Given the description of an element on the screen output the (x, y) to click on. 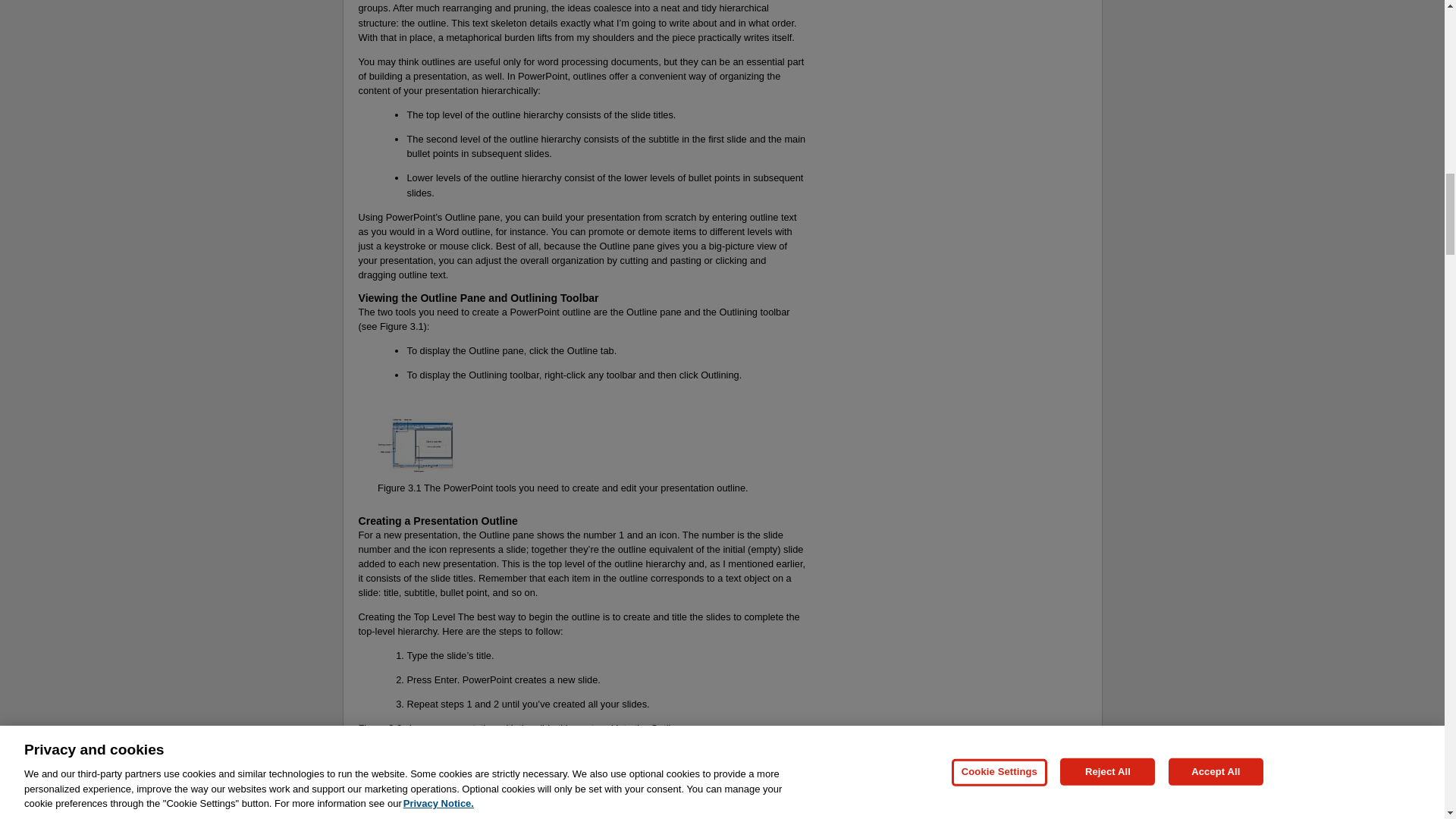
Figure 3.1 (401, 326)
Figure 3.2 (379, 727)
Figure 3.1 (399, 487)
